Given the description of an element on the screen output the (x, y) to click on. 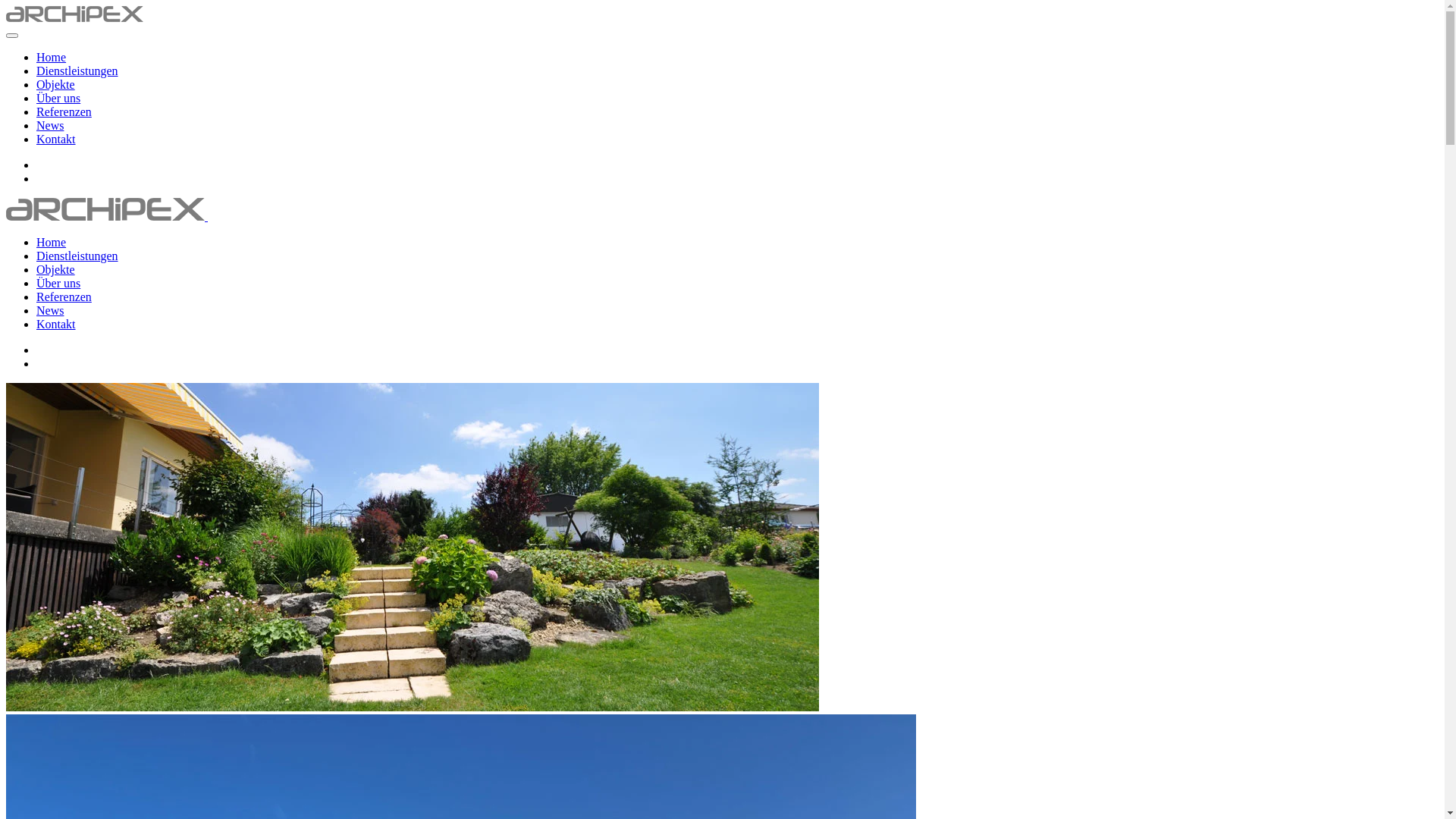
Objekte Element type: text (55, 269)
Home Element type: text (50, 241)
Home Element type: text (50, 56)
Kontakt Element type: text (55, 323)
News Element type: text (49, 125)
Dienstleistungen Element type: text (77, 70)
Referenzen Element type: text (63, 296)
Dienstleistungen Element type: text (77, 255)
Referenzen Element type: text (63, 111)
Objekte Element type: text (55, 84)
Kontakt Element type: text (55, 138)
News Element type: text (49, 310)
